Given the description of an element on the screen output the (x, y) to click on. 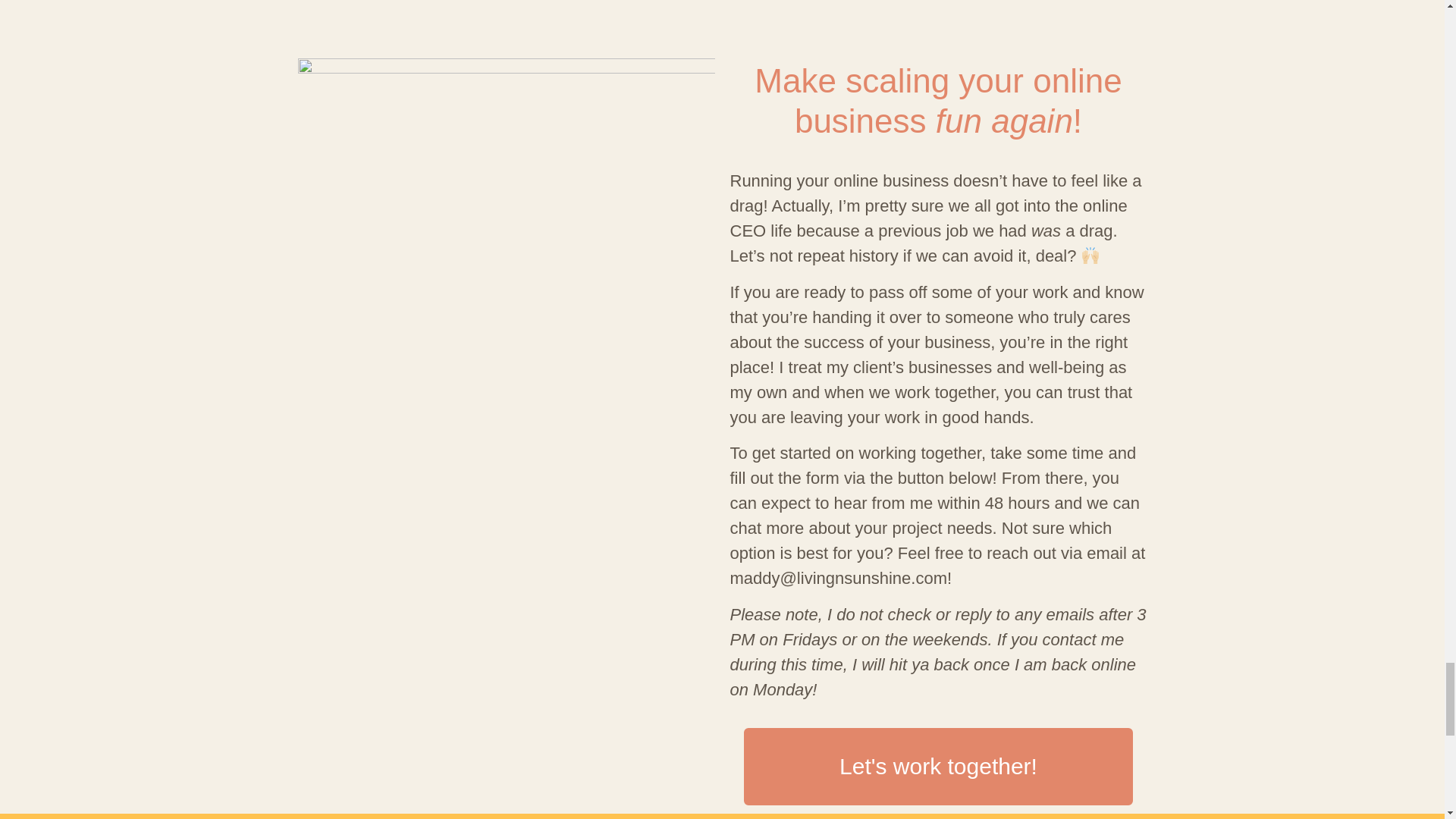
Let's work together! (938, 766)
